Given the description of an element on the screen output the (x, y) to click on. 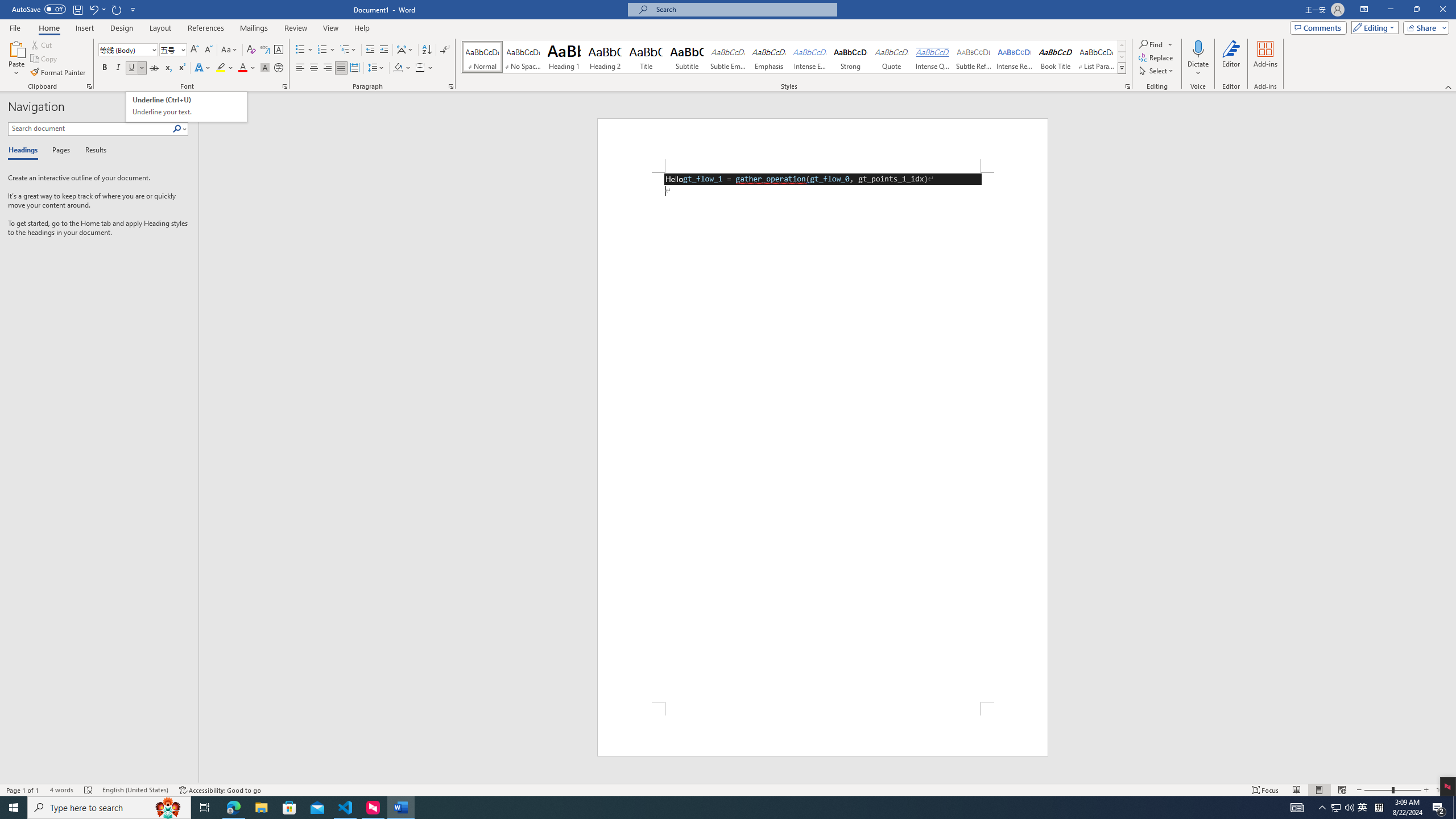
Page Number Page 1 of 1 (22, 790)
Emphasis (768, 56)
